Given the description of an element on the screen output the (x, y) to click on. 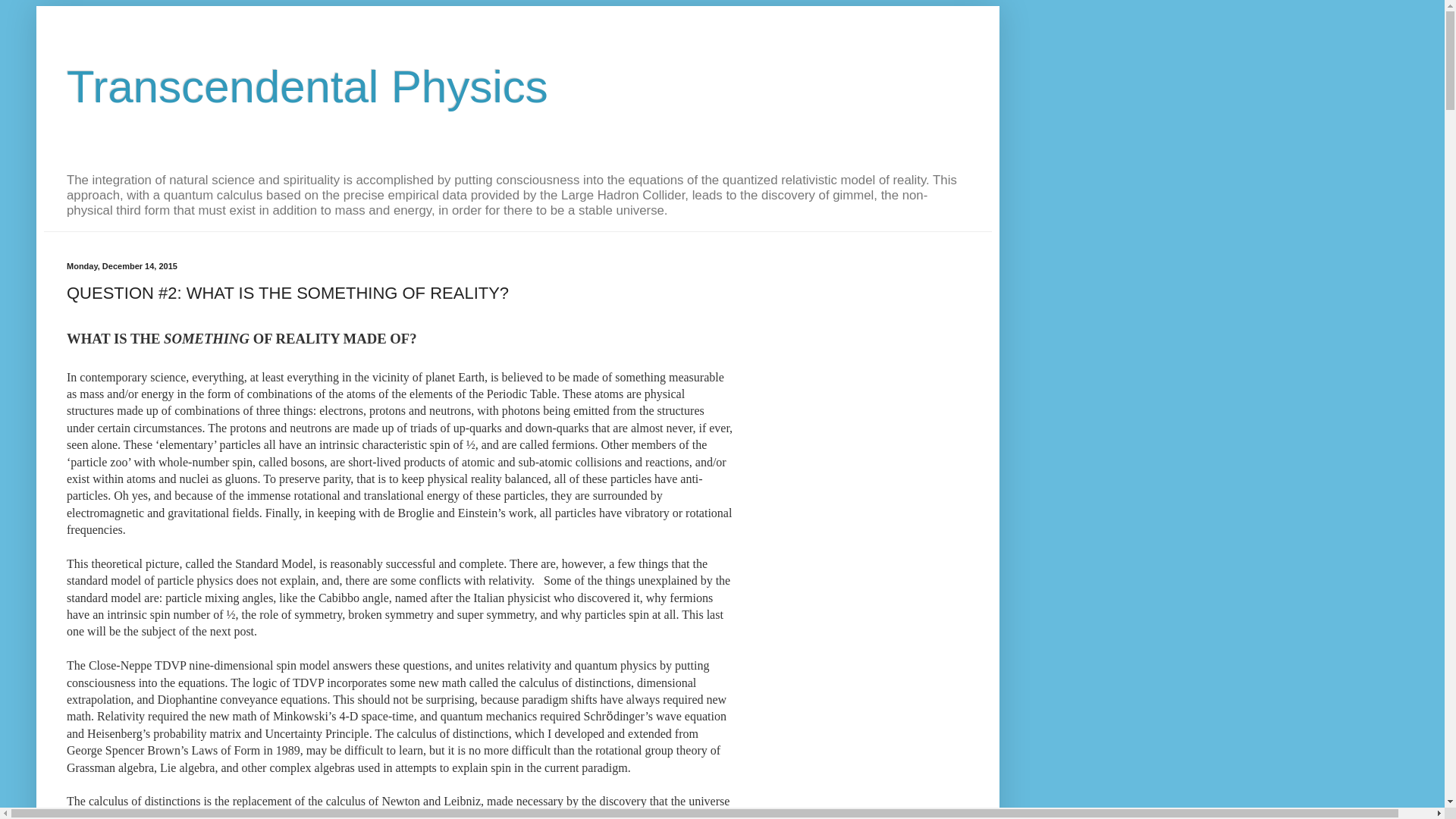
Transcendental Physics (307, 86)
